Given the description of an element on the screen output the (x, y) to click on. 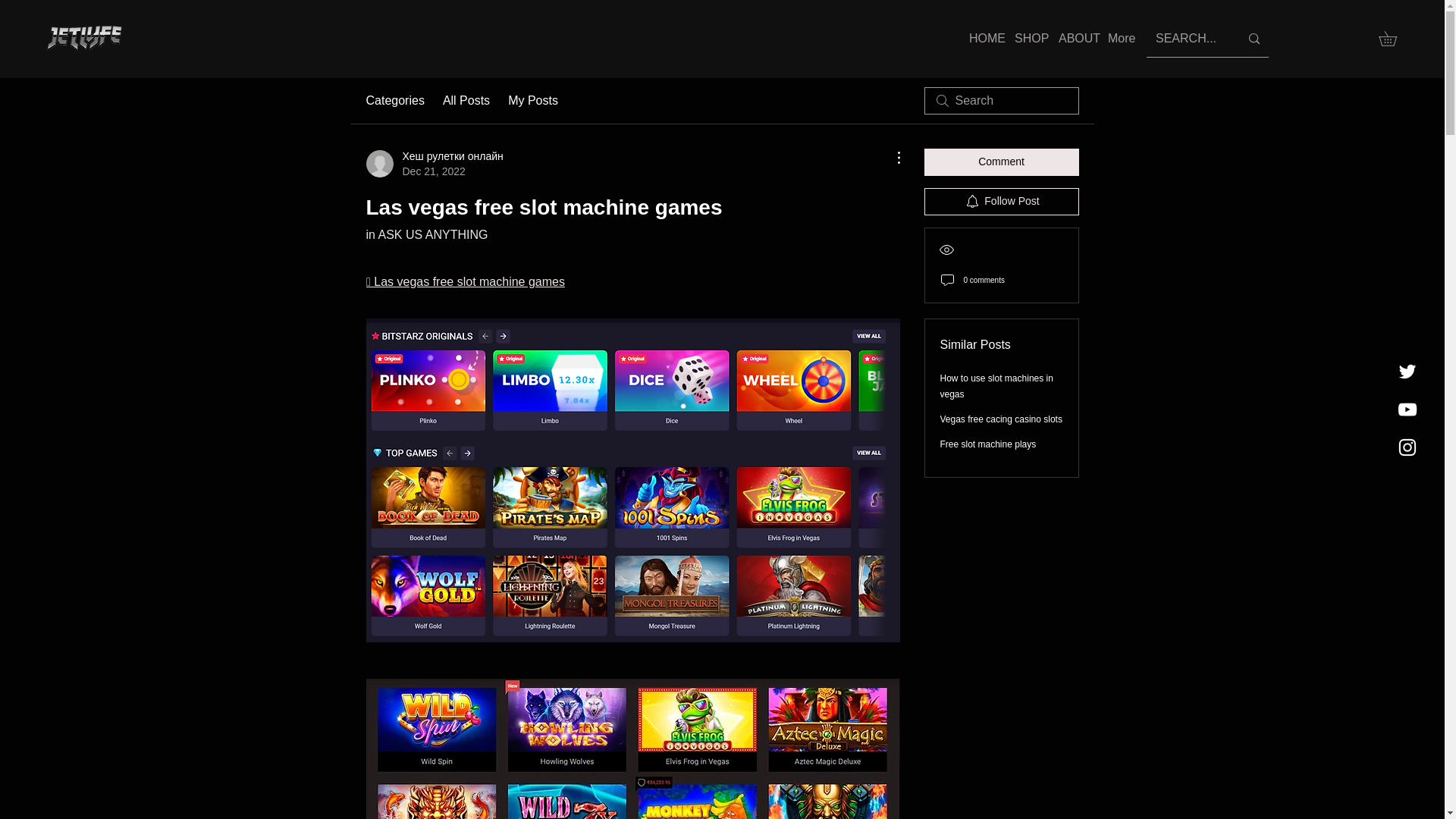
Comment (1000, 162)
Categories (394, 100)
My Posts (532, 100)
in ASK US ANYTHING (426, 234)
How to use slot machines in vegas (996, 386)
All Posts (465, 100)
Follow Post (1000, 201)
Vegas free cacing casino slots (1001, 419)
Free slot machine plays (988, 443)
